Given the description of an element on the screen output the (x, y) to click on. 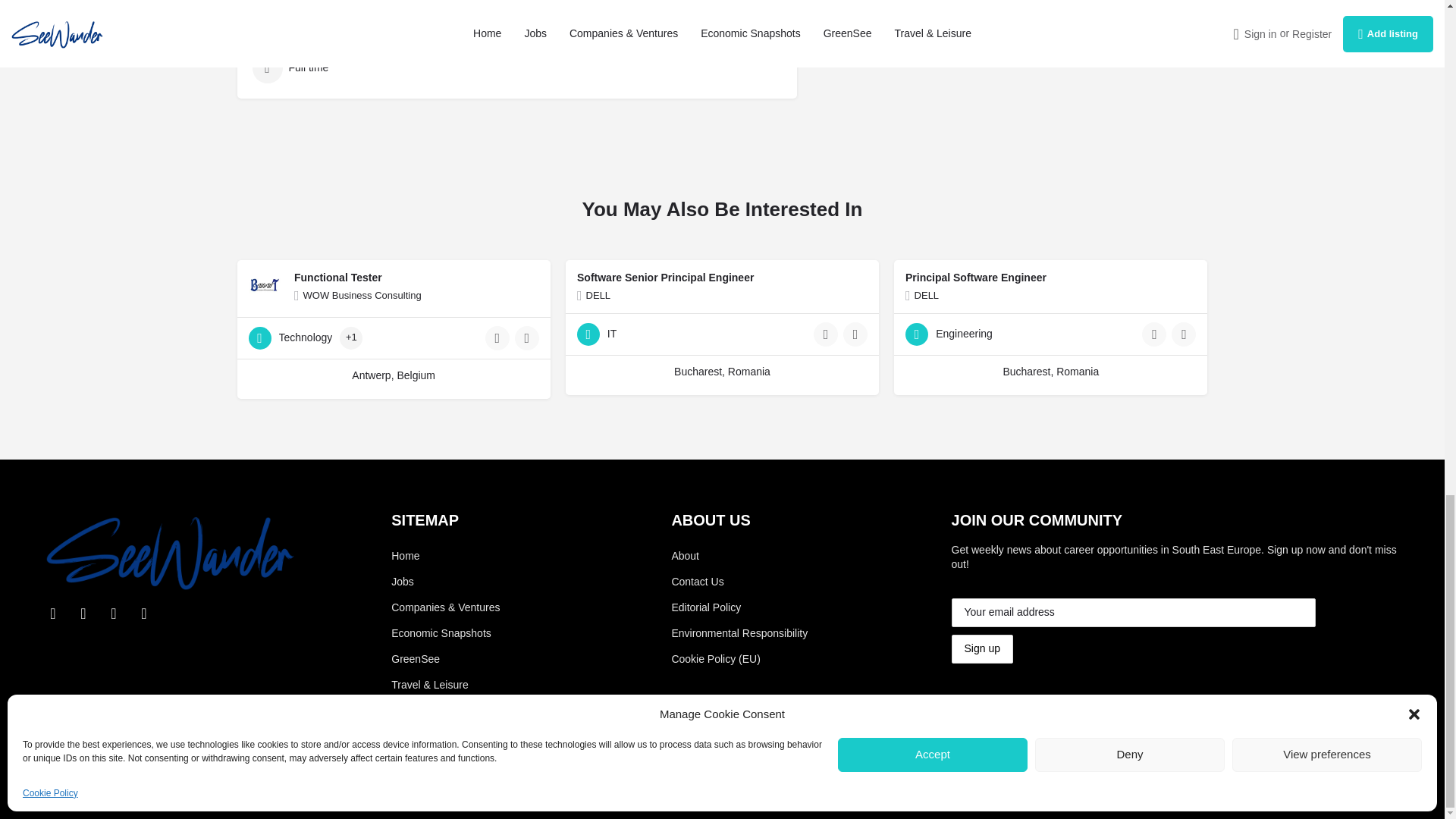
Sign up (982, 648)
Full time (335, 68)
